Given the description of an element on the screen output the (x, y) to click on. 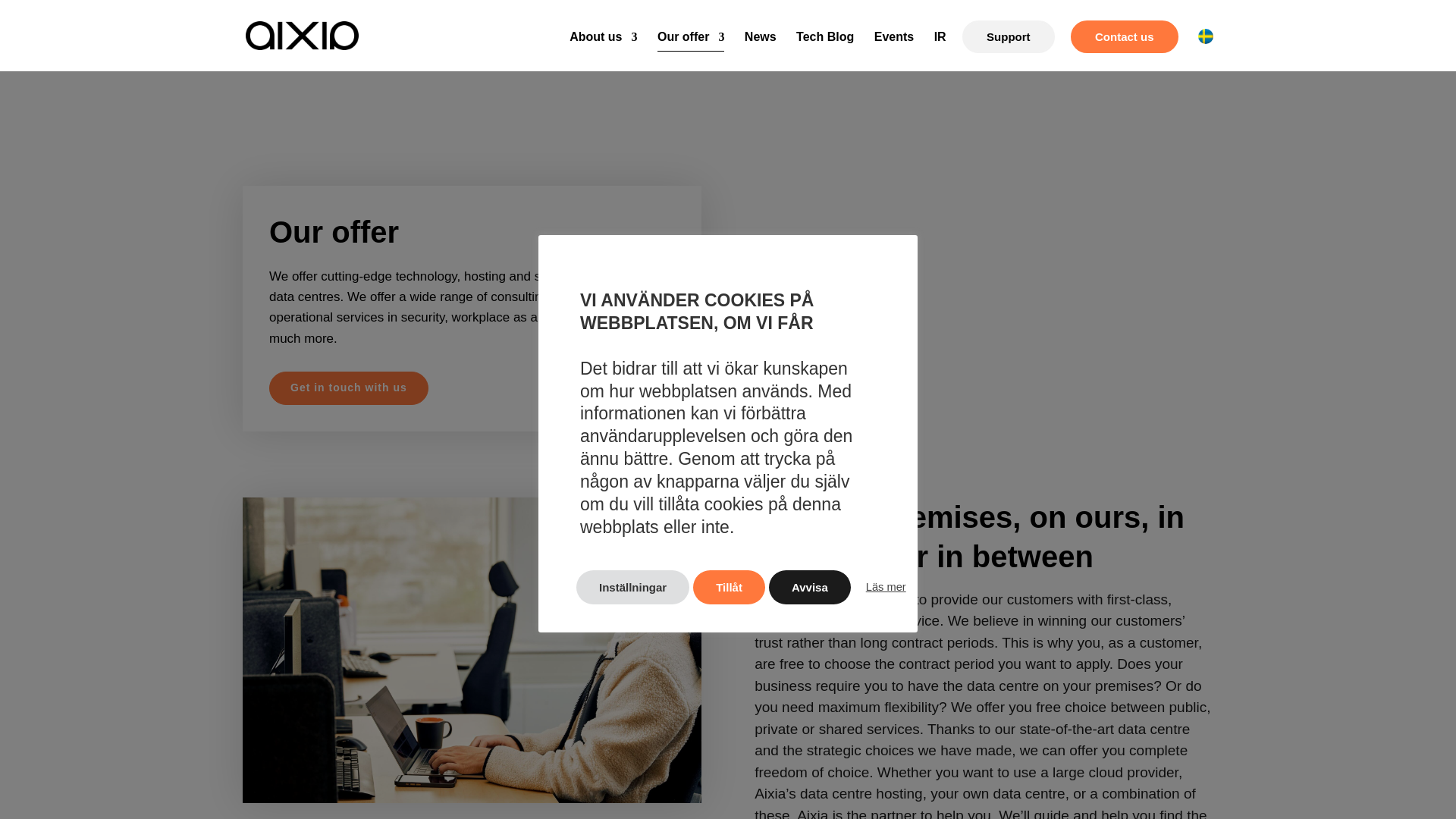
Support (1008, 36)
About us (603, 51)
Contact us (1123, 36)
News (760, 51)
Our offer (690, 51)
Tech Blog (824, 51)
IR (940, 51)
Events (894, 51)
